Given the description of an element on the screen output the (x, y) to click on. 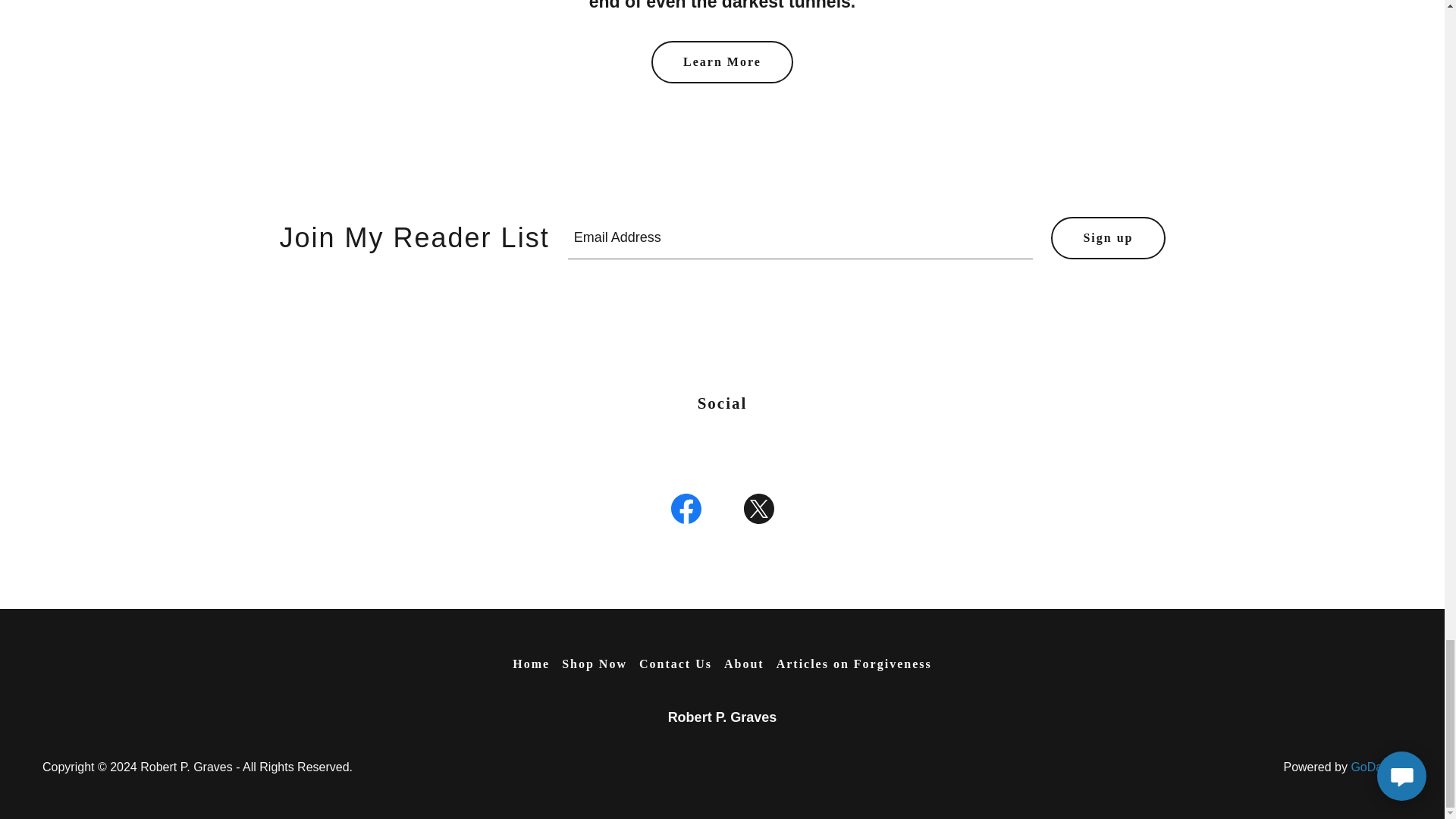
Sign up (1107, 238)
Shop Now (594, 664)
Articles on Forgiveness (853, 664)
GoDaddy (1376, 766)
Learn More (721, 61)
Home (531, 664)
Contact Us (675, 664)
About (743, 664)
